Given the description of an element on the screen output the (x, y) to click on. 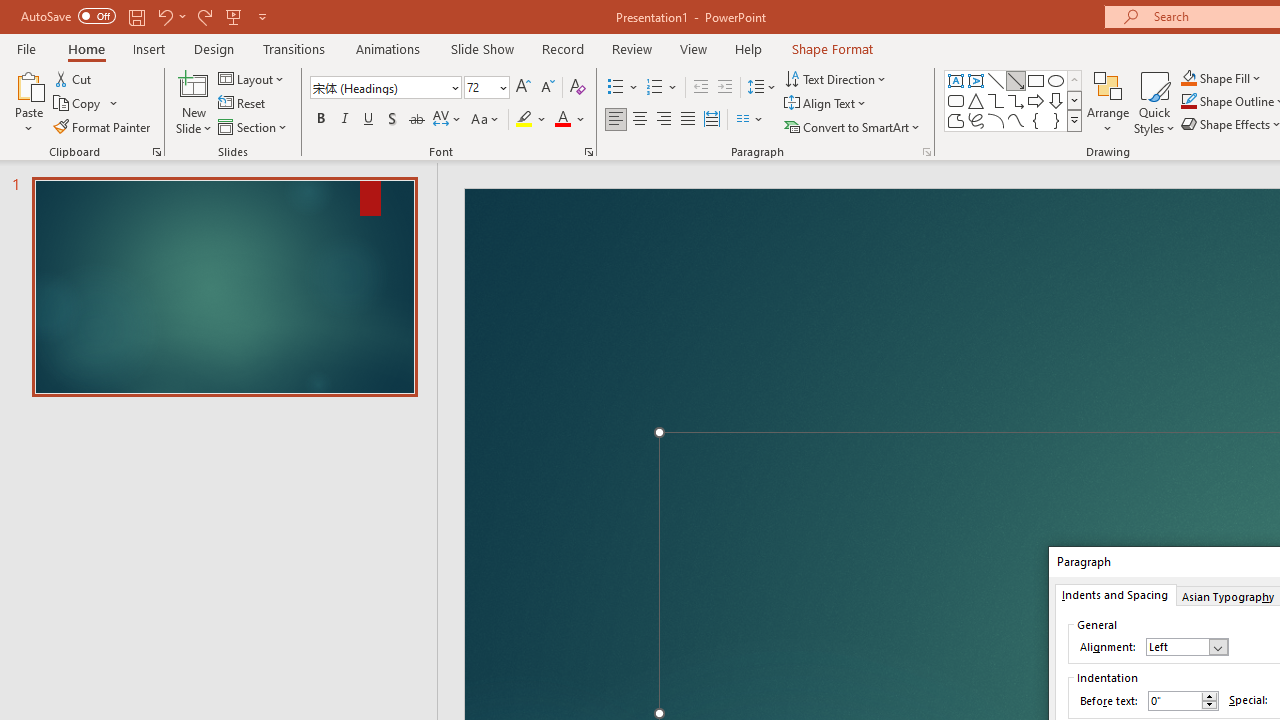
Convert to SmartArt (853, 126)
Increase Font Size (522, 87)
Columns (750, 119)
Align Right (663, 119)
Layout (252, 78)
Arrow: Down (1055, 100)
Underline (369, 119)
Justify (687, 119)
Character Spacing (447, 119)
Freeform: Scribble (975, 120)
Rectangle (1035, 80)
